Given the description of an element on the screen output the (x, y) to click on. 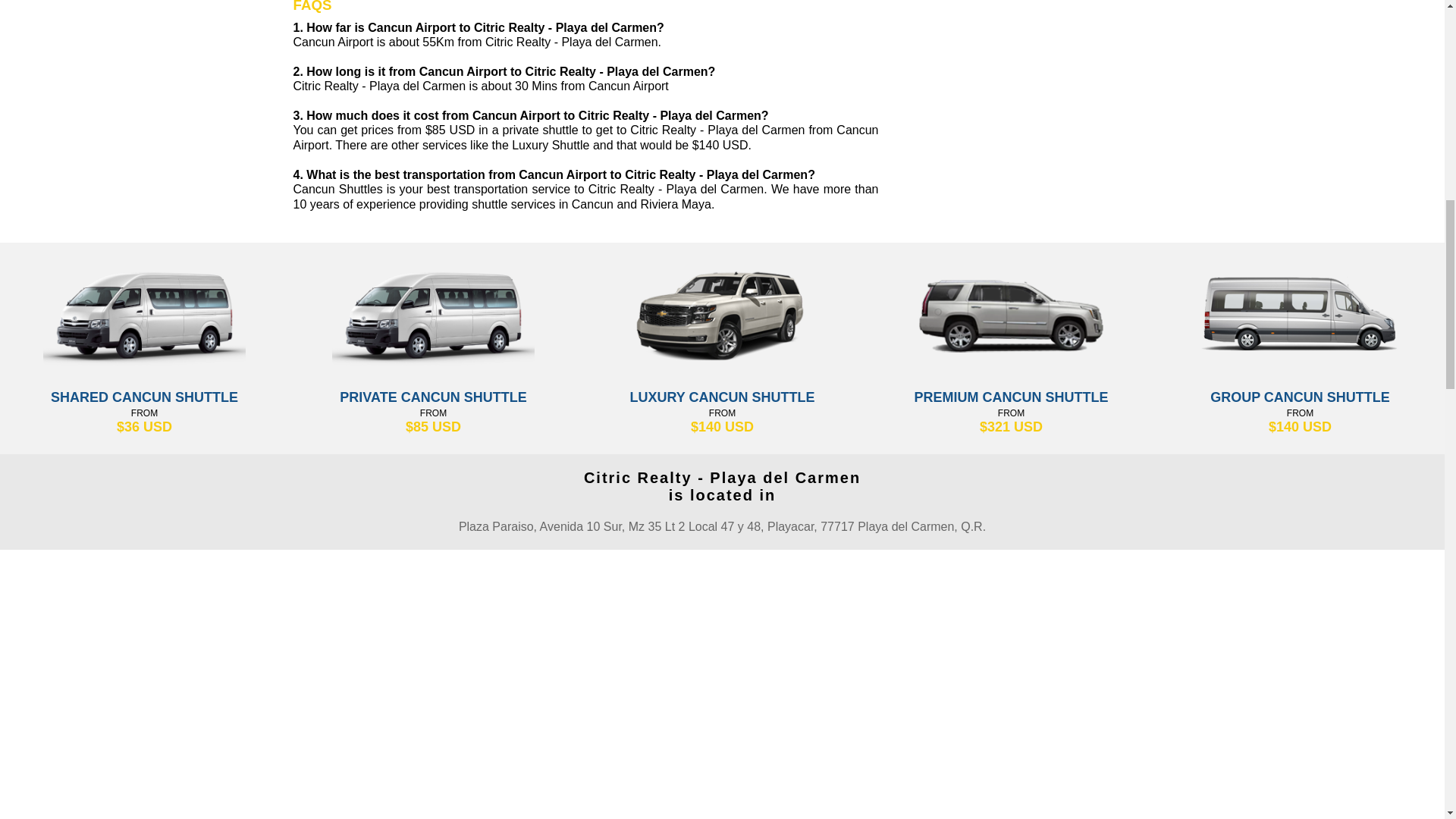
LUXURY CANCUN SHUTTLE (722, 397)
PRIVATE CANCUN SHUTTLE (433, 397)
SHARED CANCUN SHUTTLE (144, 397)
PREMIUM CANCUN SHUTTLE (1011, 397)
